Given the description of an element on the screen output the (x, y) to click on. 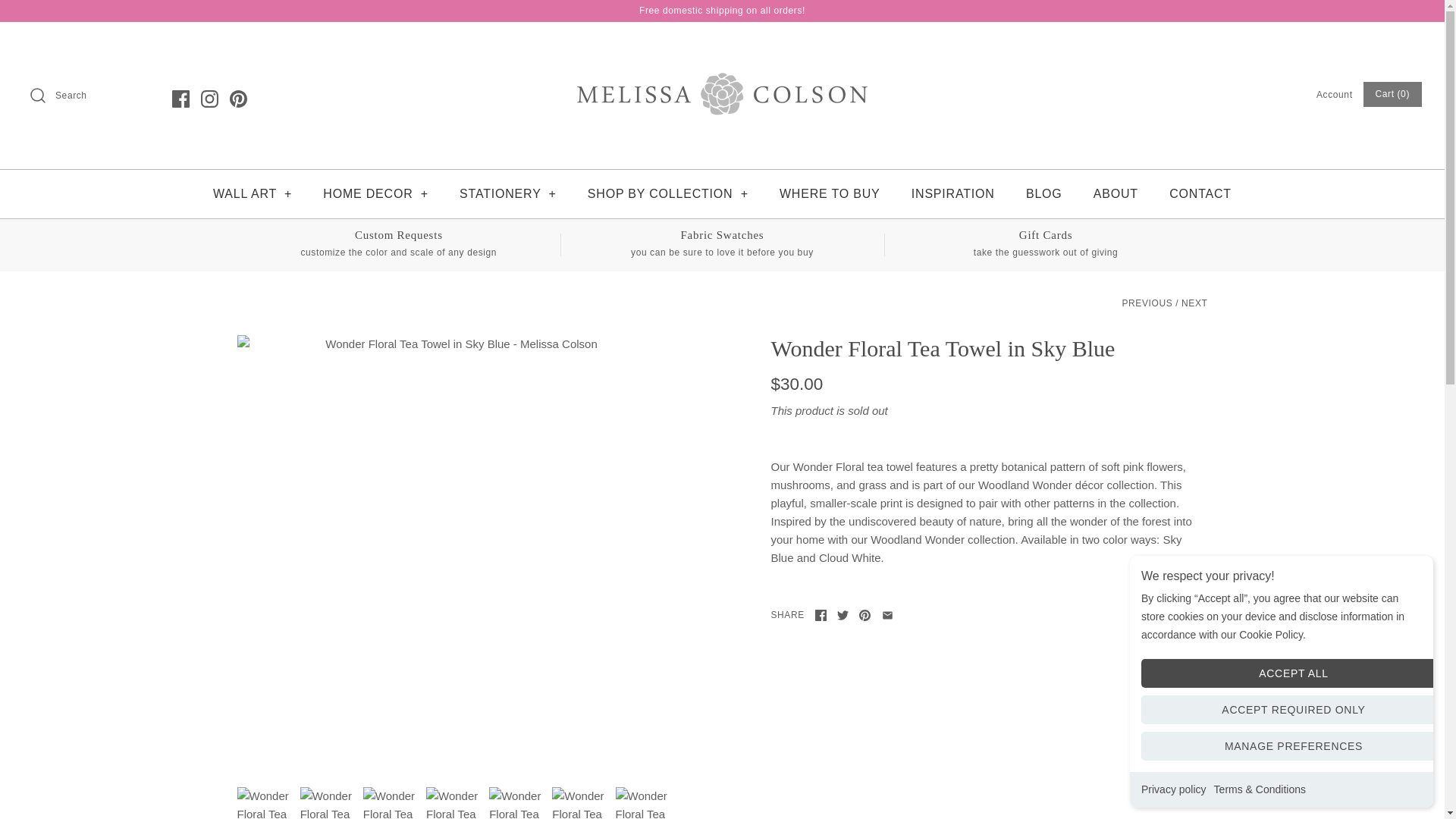
Facebook (180, 98)
Melissa Colson (721, 45)
Wonder Floral Tea Towel in Sky Blue - Melissa Colson (643, 803)
Facebook (821, 614)
Instagram (209, 98)
Instagram (209, 98)
Privacy policy (1174, 788)
Facebook (180, 98)
Wonder Floral Tea Towel in Sky Blue - Melissa Colson (453, 803)
Twitter (842, 614)
